Given the description of an element on the screen output the (x, y) to click on. 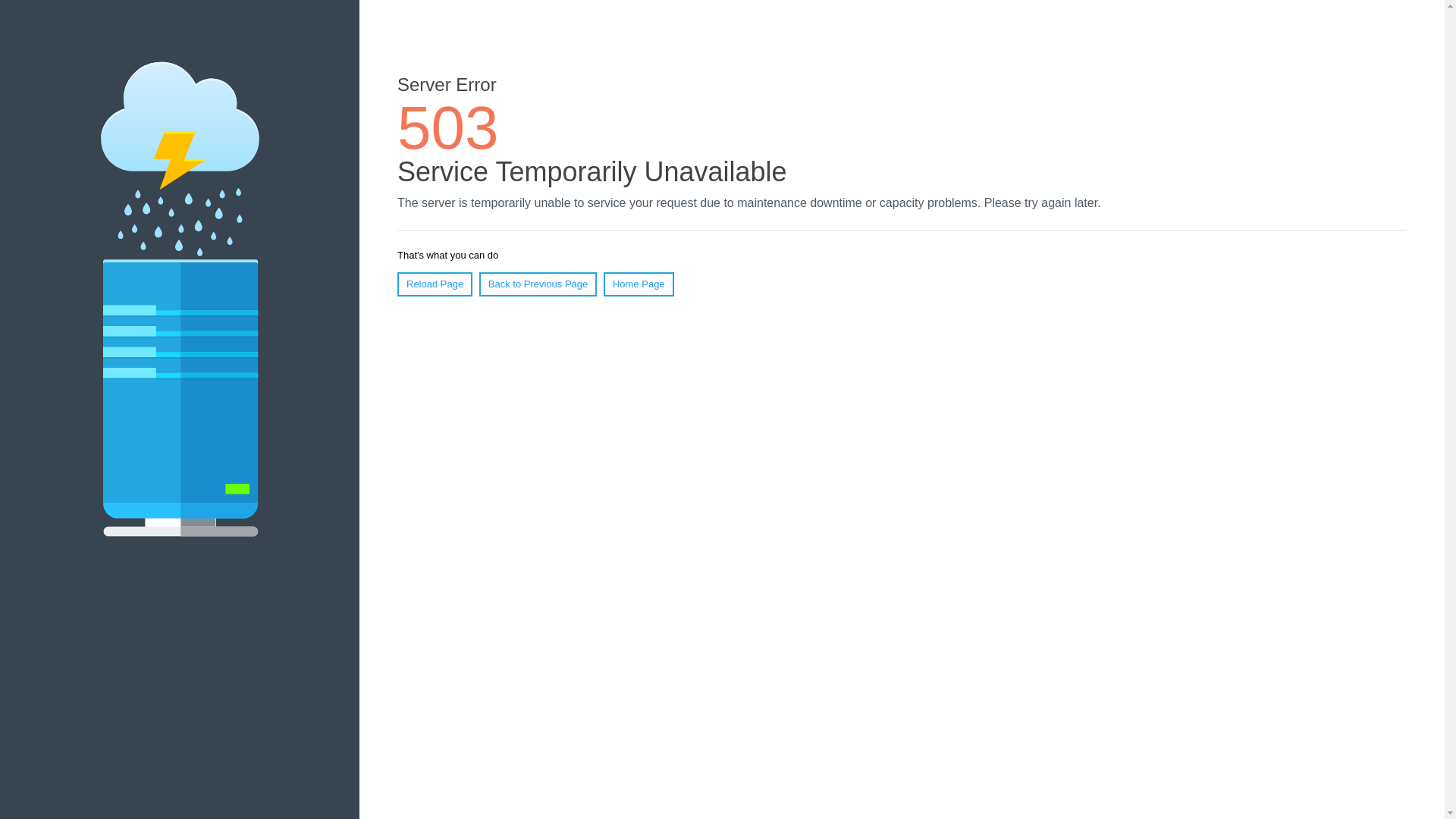
Reload Page (434, 283)
Back to Previous Page (537, 283)
Home Page (639, 283)
